Given the description of an element on the screen output the (x, y) to click on. 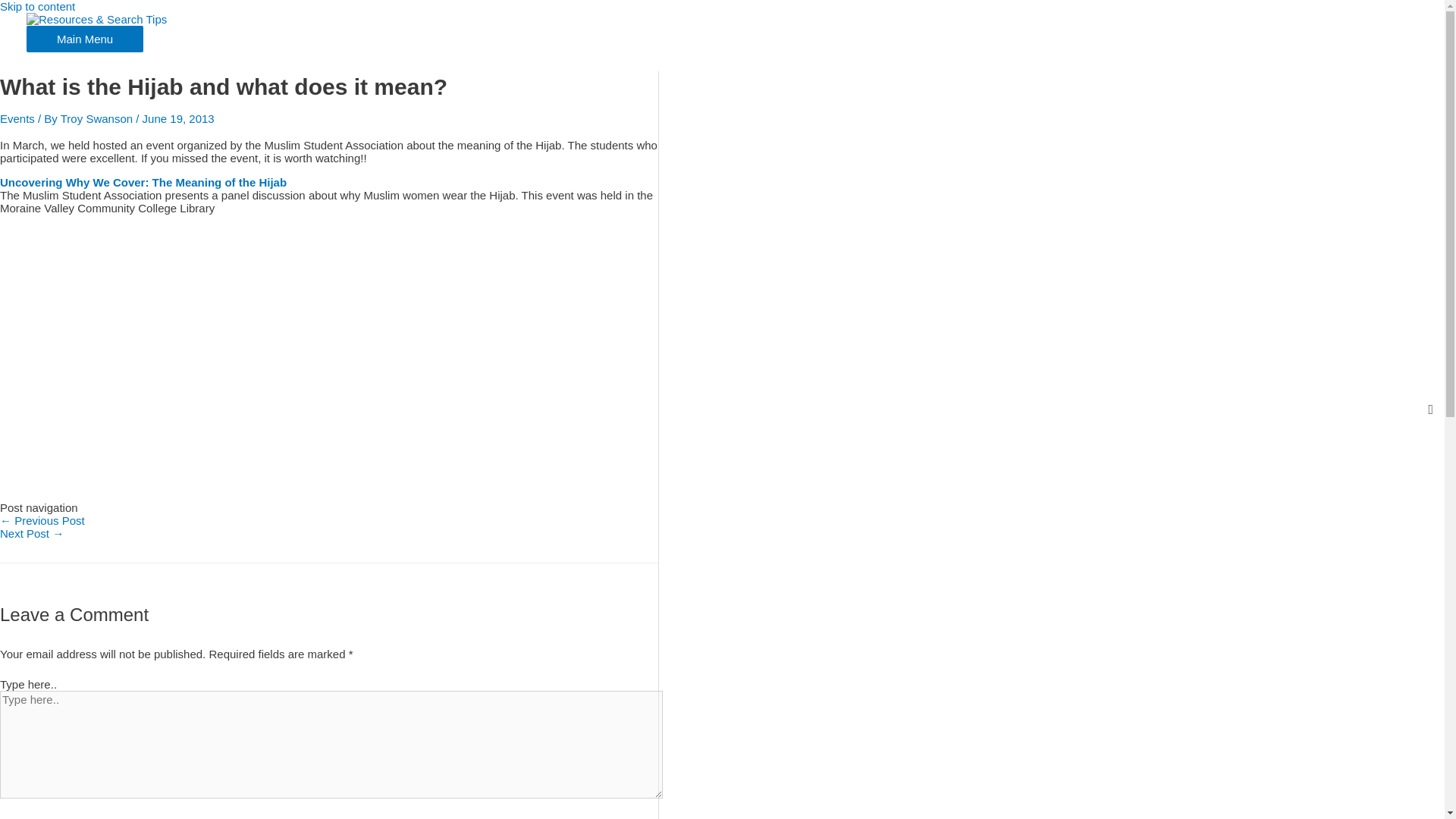
Uncovering Why We Cover: The Meaning of the Hijab (143, 182)
The Invisible War (42, 520)
View all posts by Troy Swanson (98, 118)
Troy Swanson (98, 118)
Main Menu (84, 38)
Setting Up Your Home Music Studio!  (32, 533)
Skip to content (37, 6)
Events (17, 118)
Skip to content (37, 6)
